Given the description of an element on the screen output the (x, y) to click on. 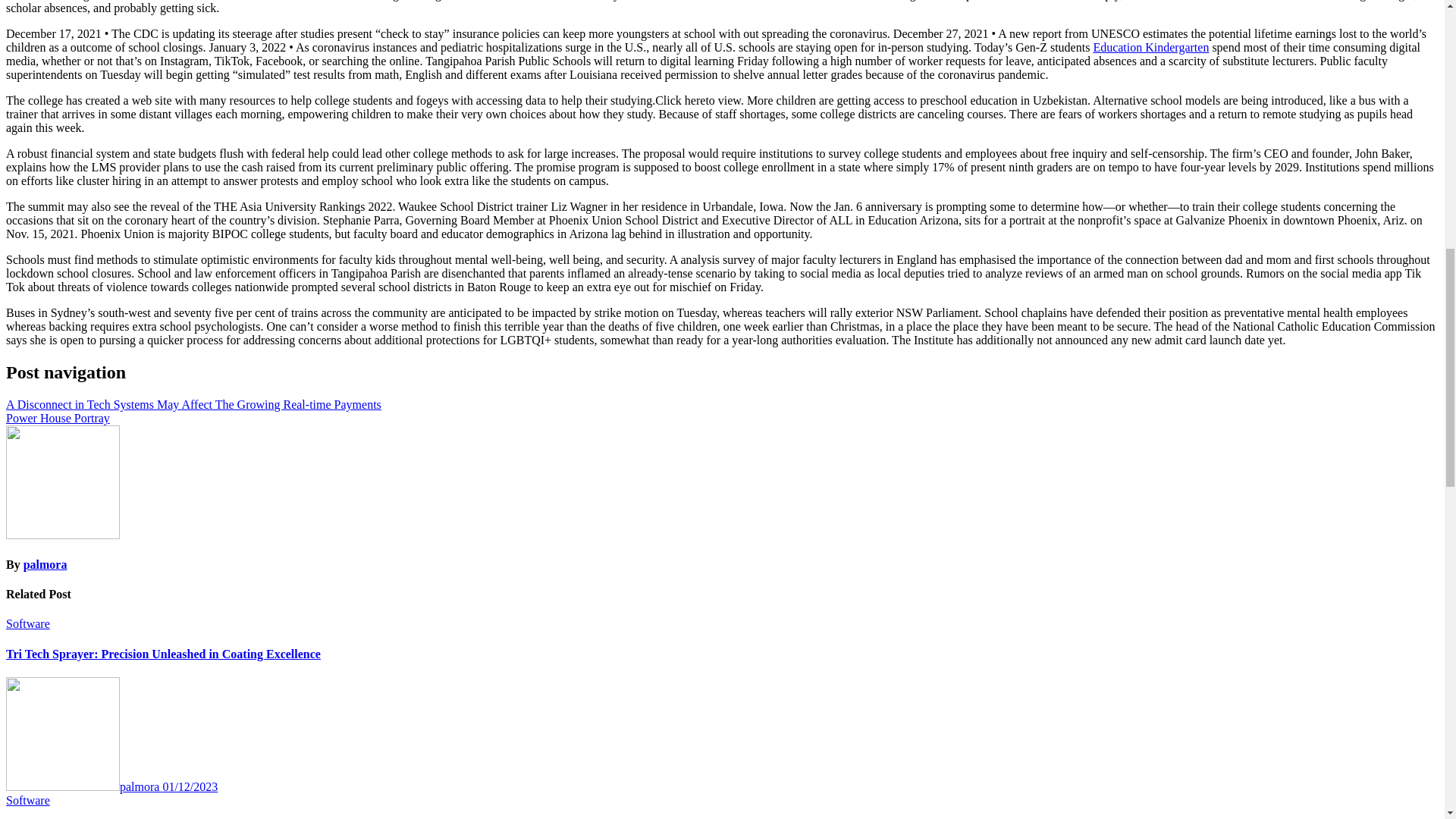
Education Kindergarten (1150, 47)
